Given the description of an element on the screen output the (x, y) to click on. 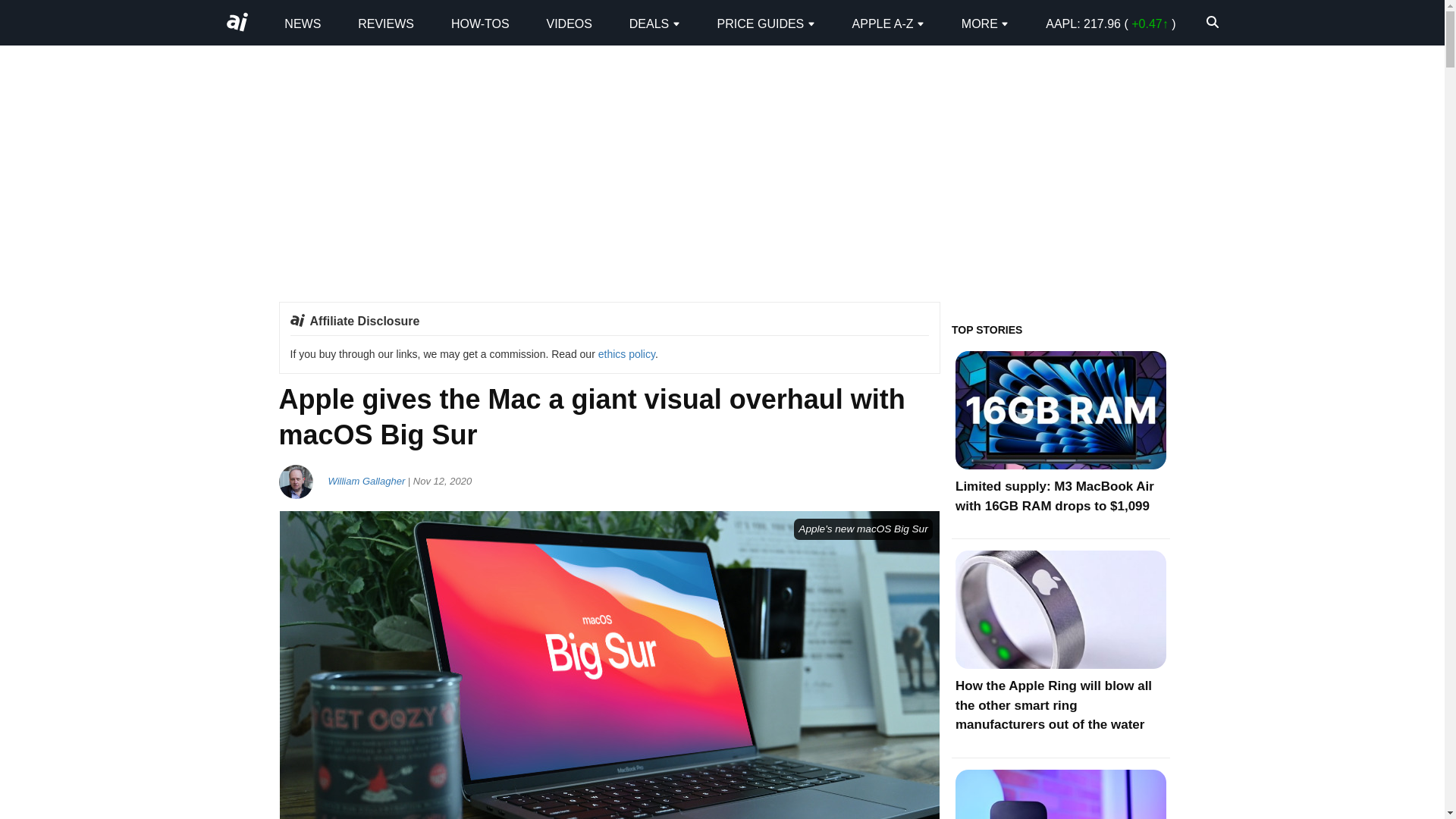
REVIEWS (385, 23)
HOW-TOS (480, 23)
How-Tos (480, 23)
VIDEOS (568, 23)
NEWS (301, 23)
Videos (568, 23)
News (301, 23)
Reviews (385, 23)
